Given the description of an element on the screen output the (x, y) to click on. 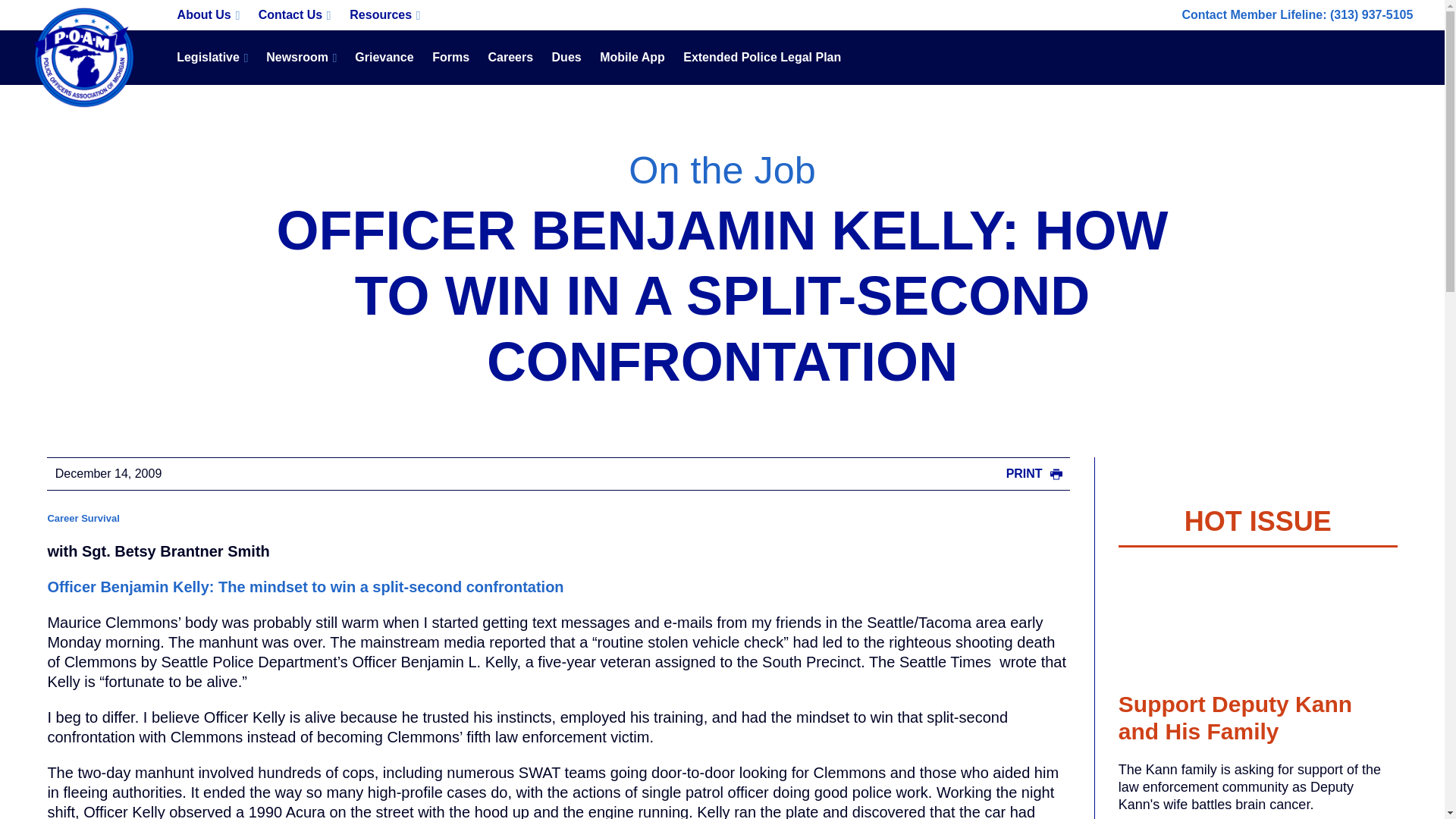
About Us (207, 15)
Legislative (212, 57)
Resources (385, 15)
Newsroom (301, 57)
Contact Us (293, 15)
Forms (451, 57)
Mobile App (632, 57)
Careers (510, 57)
Grievance (383, 57)
Police Officers Association of Michigan (85, 57)
